Given the description of an element on the screen output the (x, y) to click on. 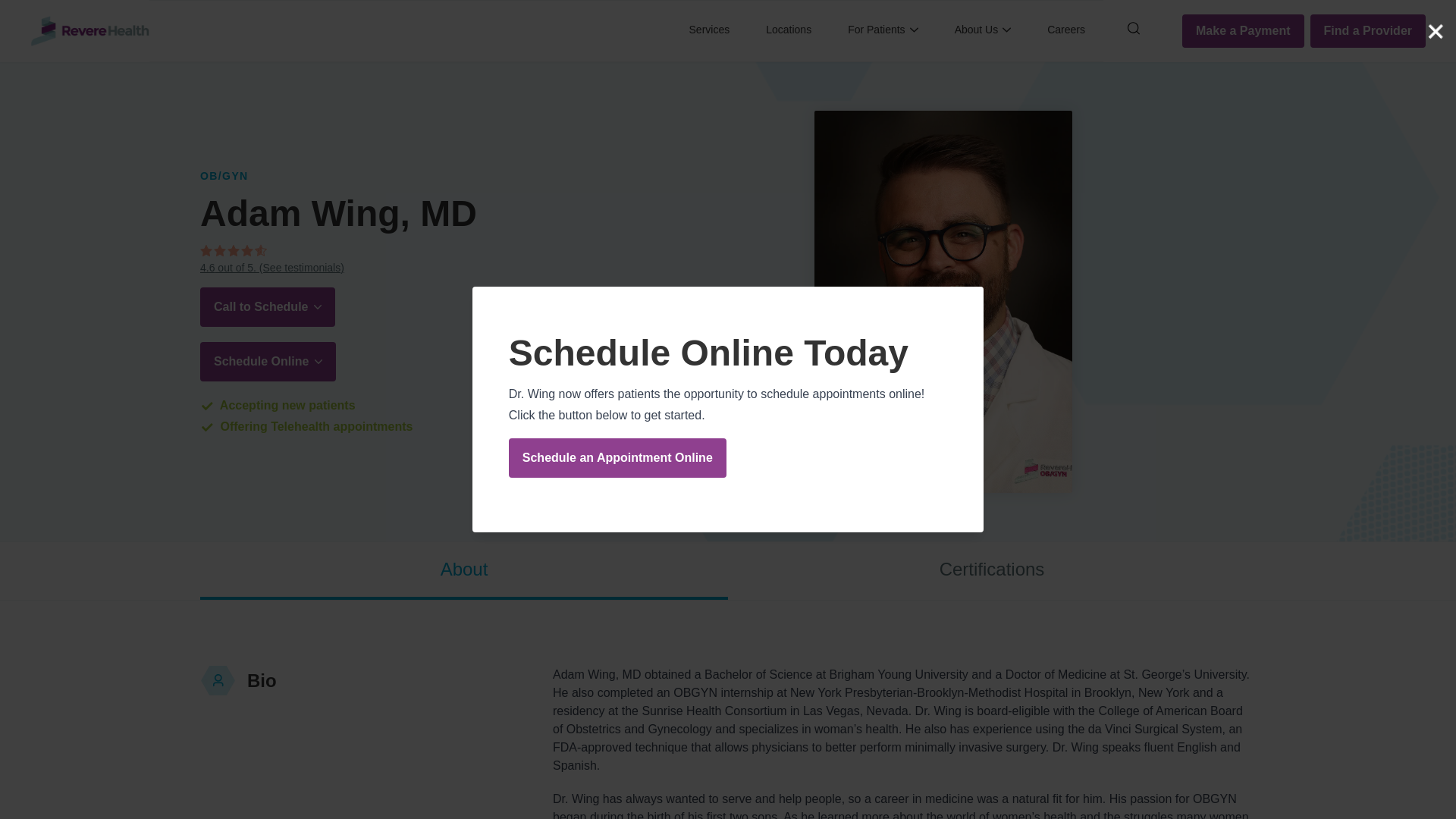
Schedule Online (268, 360)
Find a Provider (1367, 30)
Make a Payment (1243, 30)
Schedule an Appointment Online (617, 457)
About Us (983, 30)
Schedule an Appointment Online (727, 457)
For Patients (882, 30)
Call to Schedule (267, 305)
